Given the description of an element on the screen output the (x, y) to click on. 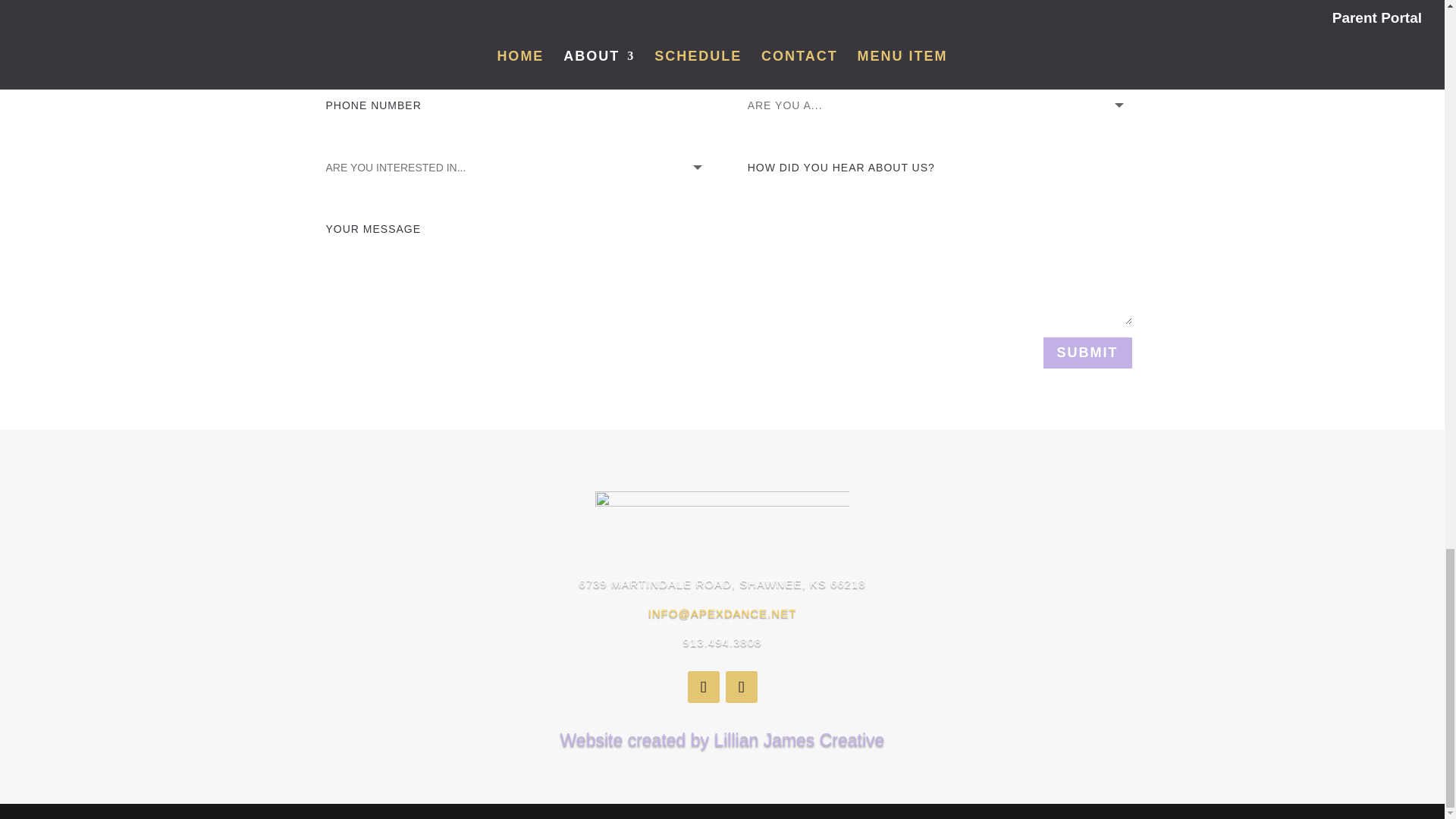
Follow on Facebook (703, 686)
Website created by Lillian James Creative (722, 740)
SUBMIT (1087, 352)
Follow on Instagram (741, 686)
